Given the description of an element on the screen output the (x, y) to click on. 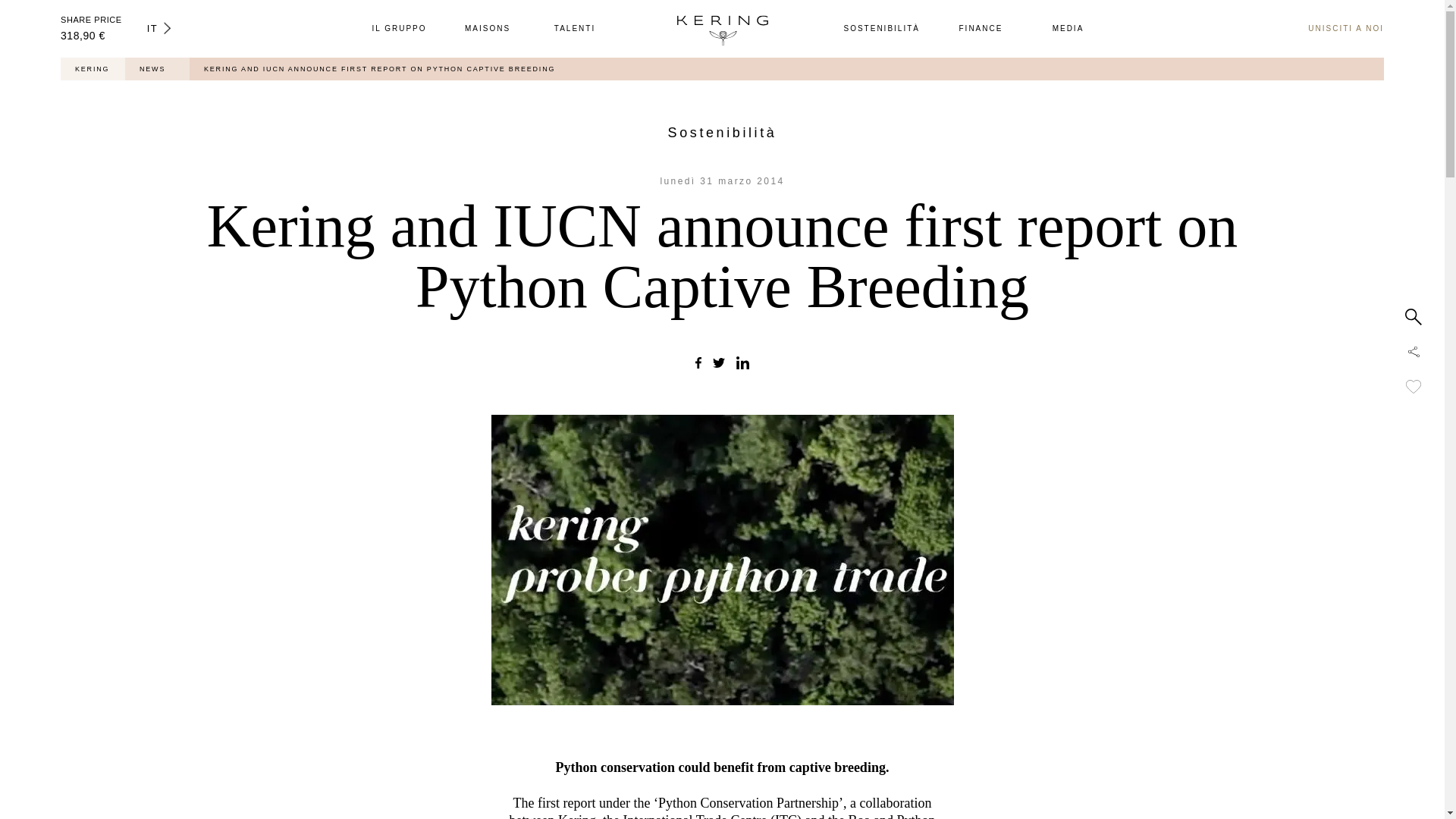
Media (1068, 28)
TALENTI (574, 28)
IL GRUPPO (398, 28)
news (152, 68)
NEWS (152, 68)
KERING (92, 68)
Finance (981, 28)
Talenti (574, 28)
kering (92, 68)
FINANCE (981, 28)
kering (722, 28)
MAISONS (487, 28)
MEDIA (1068, 28)
IL GRUPPO (398, 28)
IT (160, 29)
